Given the description of an element on the screen output the (x, y) to click on. 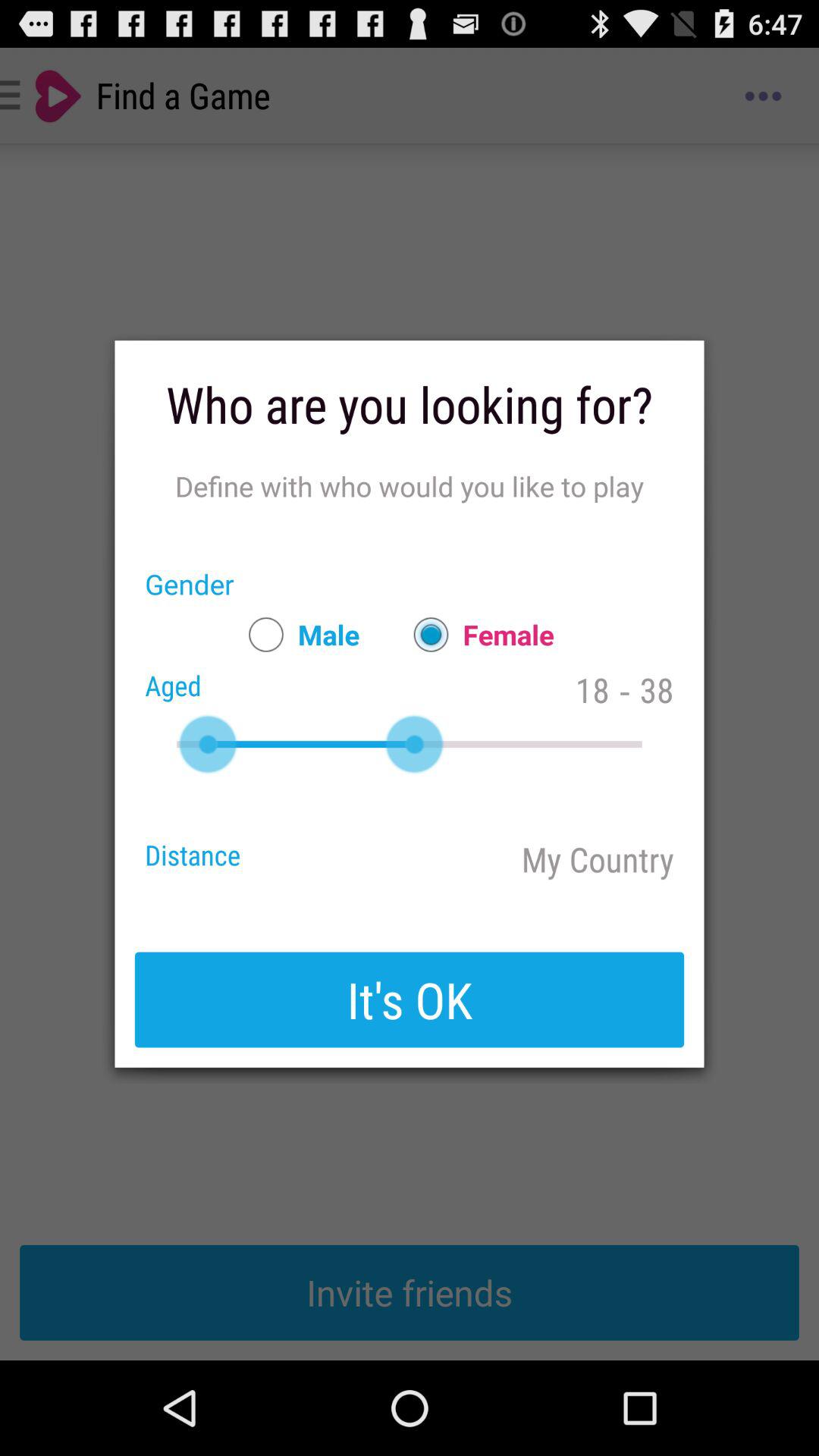
click it's ok button (409, 999)
